Given the description of an element on the screen output the (x, y) to click on. 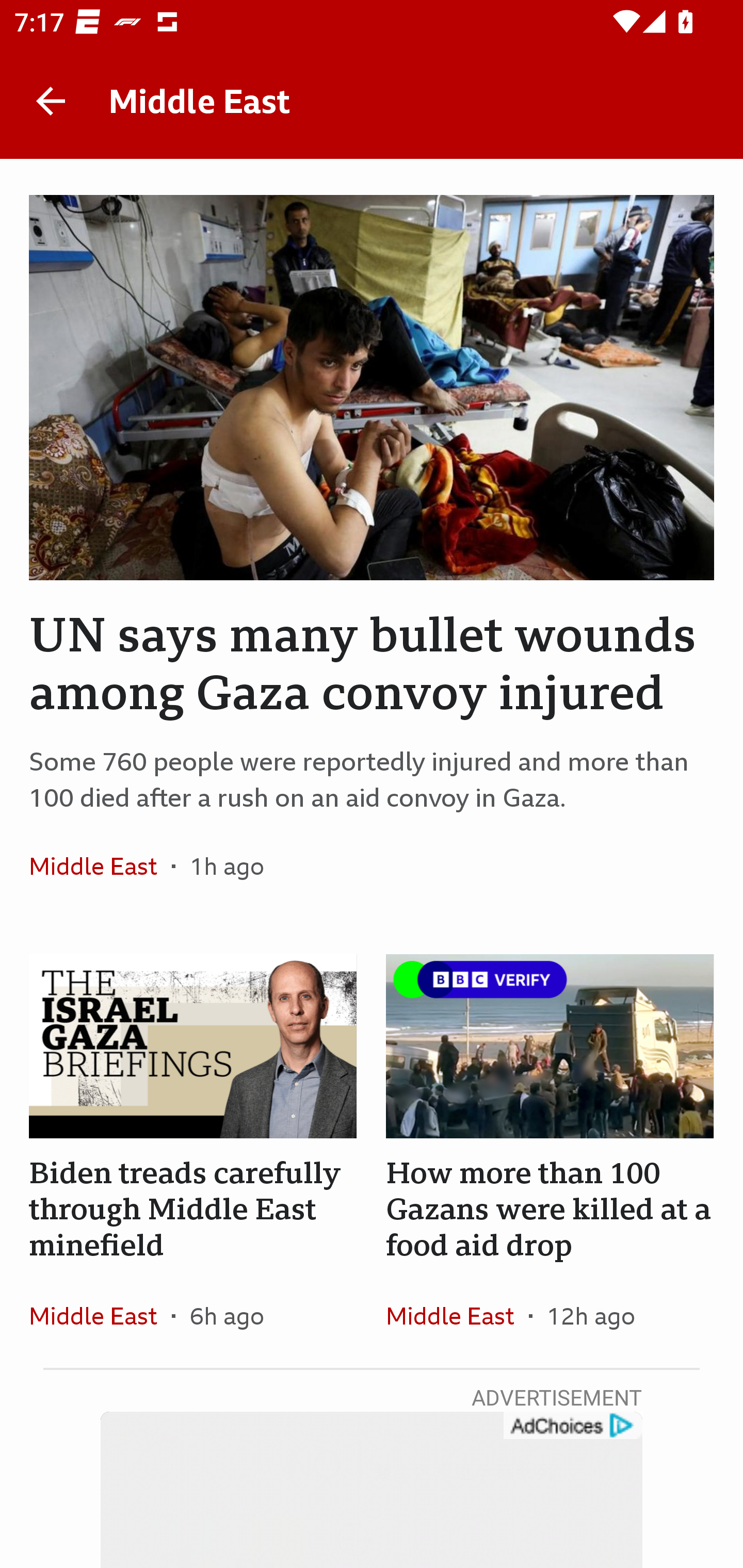
Back (50, 101)
Middle East In the section Middle East (99, 865)
Middle East In the section Middle East (99, 1315)
Middle East In the section Middle East (457, 1315)
Video Player get?name=admarker-full-tl   (371, 1489)
get?name=admarker-full-tl (571, 1425)
